Given the description of an element on the screen output the (x, y) to click on. 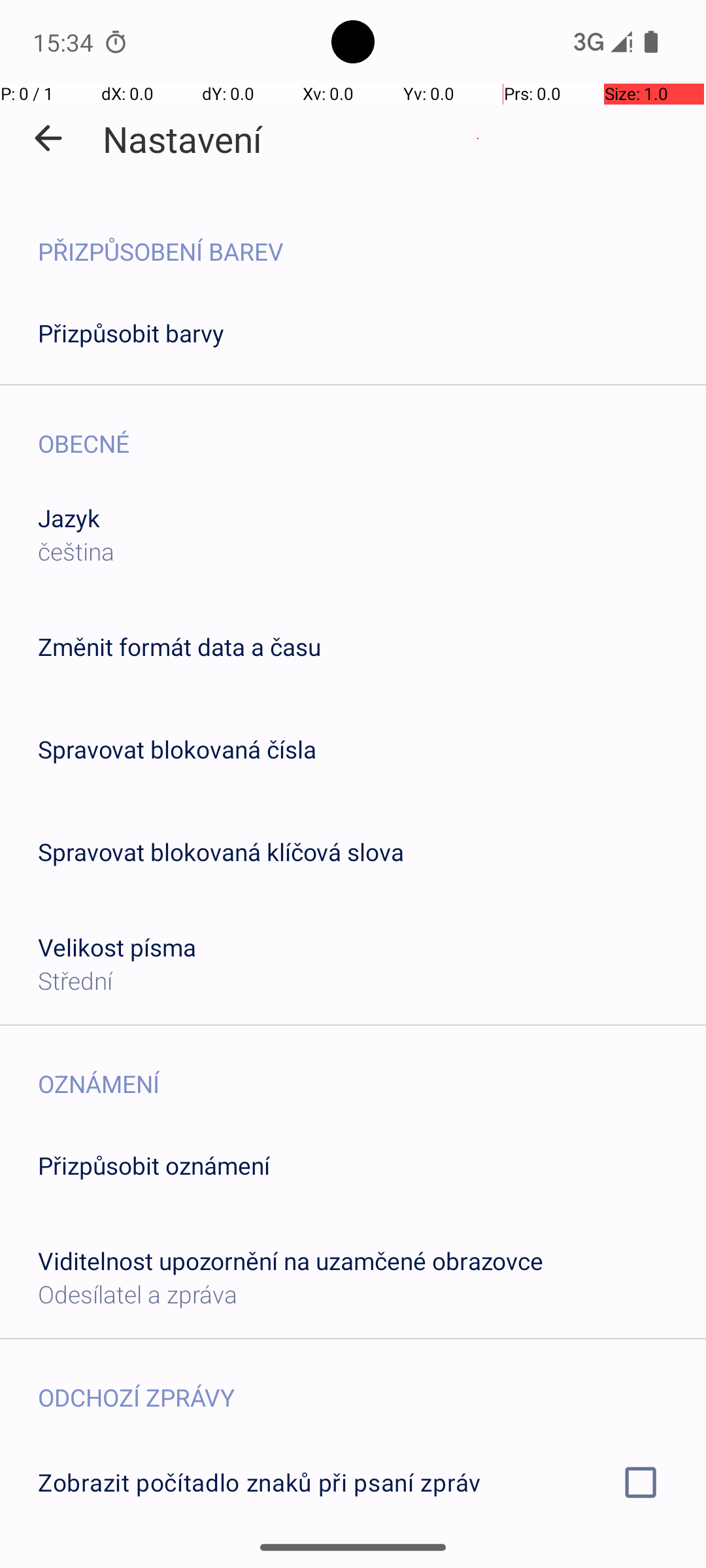
PŘIZPŮSOBENÍ BAREV Element type: android.widget.TextView (371, 237)
OBECNÉ Element type: android.widget.TextView (371, 429)
OZNÁMENÍ Element type: android.widget.TextView (371, 1069)
ODCHOZÍ ZPRÁVY Element type: android.widget.TextView (371, 1383)
Přizpůsobit barvy Element type: android.widget.TextView (130, 332)
Jazyk Element type: android.widget.TextView (68, 517)
čeština Element type: android.widget.TextView (75, 550)
Změnit formát data a času Element type: android.widget.TextView (178, 646)
Spravovat blokovaná čísla Element type: android.widget.TextView (176, 748)
Spravovat blokovaná klíčová slova Element type: android.widget.TextView (220, 851)
Velikost písma Element type: android.widget.TextView (116, 946)
Střední Element type: android.widget.TextView (74, 979)
Přizpůsobit oznámení Element type: android.widget.TextView (153, 1164)
Viditelnost upozornění na uzamčené obrazovce Element type: android.widget.TextView (290, 1260)
Odesílatel a zpráva Element type: android.widget.TextView (137, 1293)
Zobrazit počítadlo znaků při psaní zpráv Element type: android.widget.CheckBox (352, 1482)
Odstranit diakritiku při odesílání zprávy Element type: android.widget.CheckBox (352, 1559)
